Given the description of an element on the screen output the (x, y) to click on. 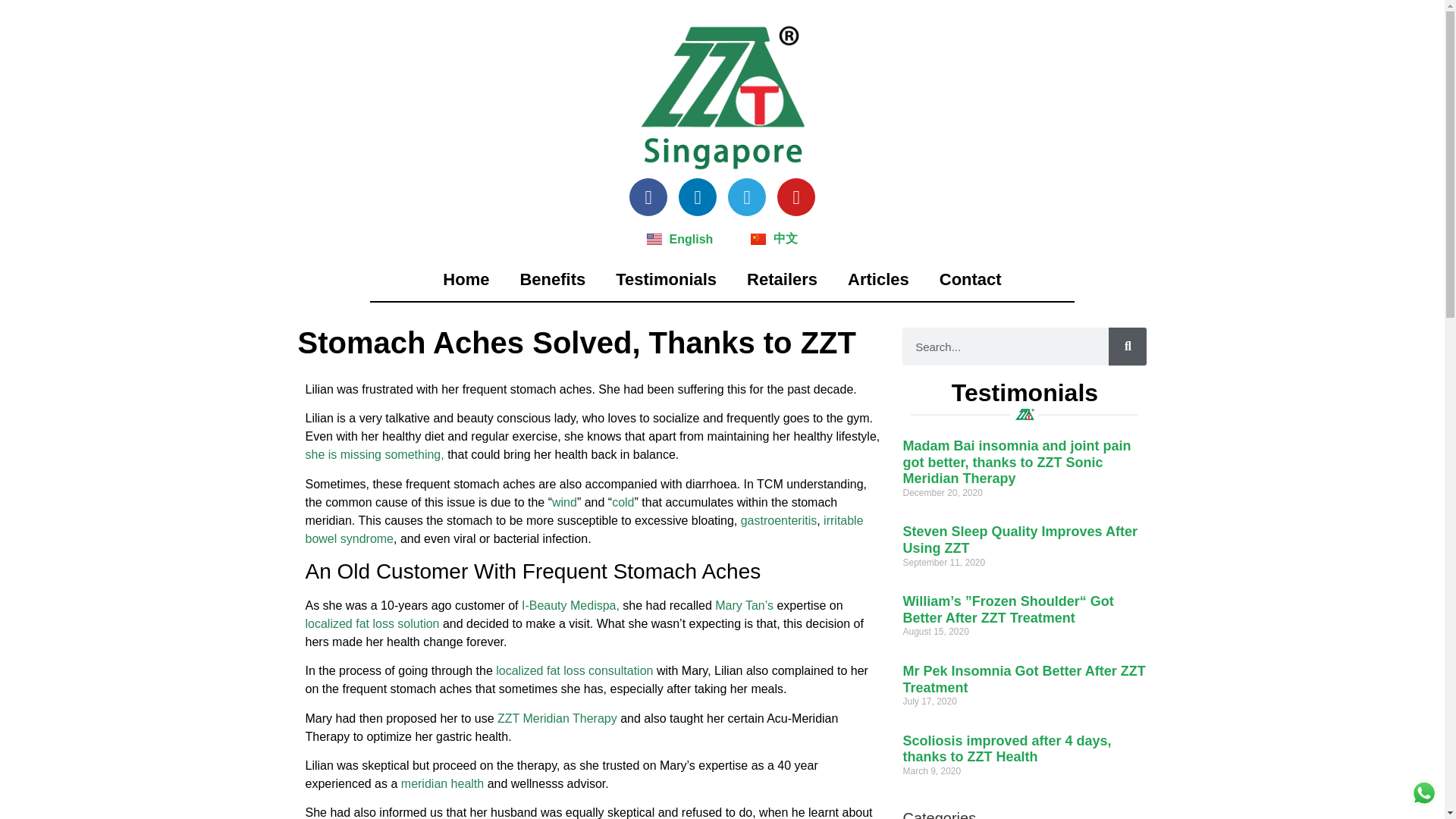
Contact (970, 279)
Benefits (551, 279)
Retailers (782, 279)
Home (465, 279)
Testimonials (665, 279)
English (679, 238)
Articles (878, 279)
